Given the description of an element on the screen output the (x, y) to click on. 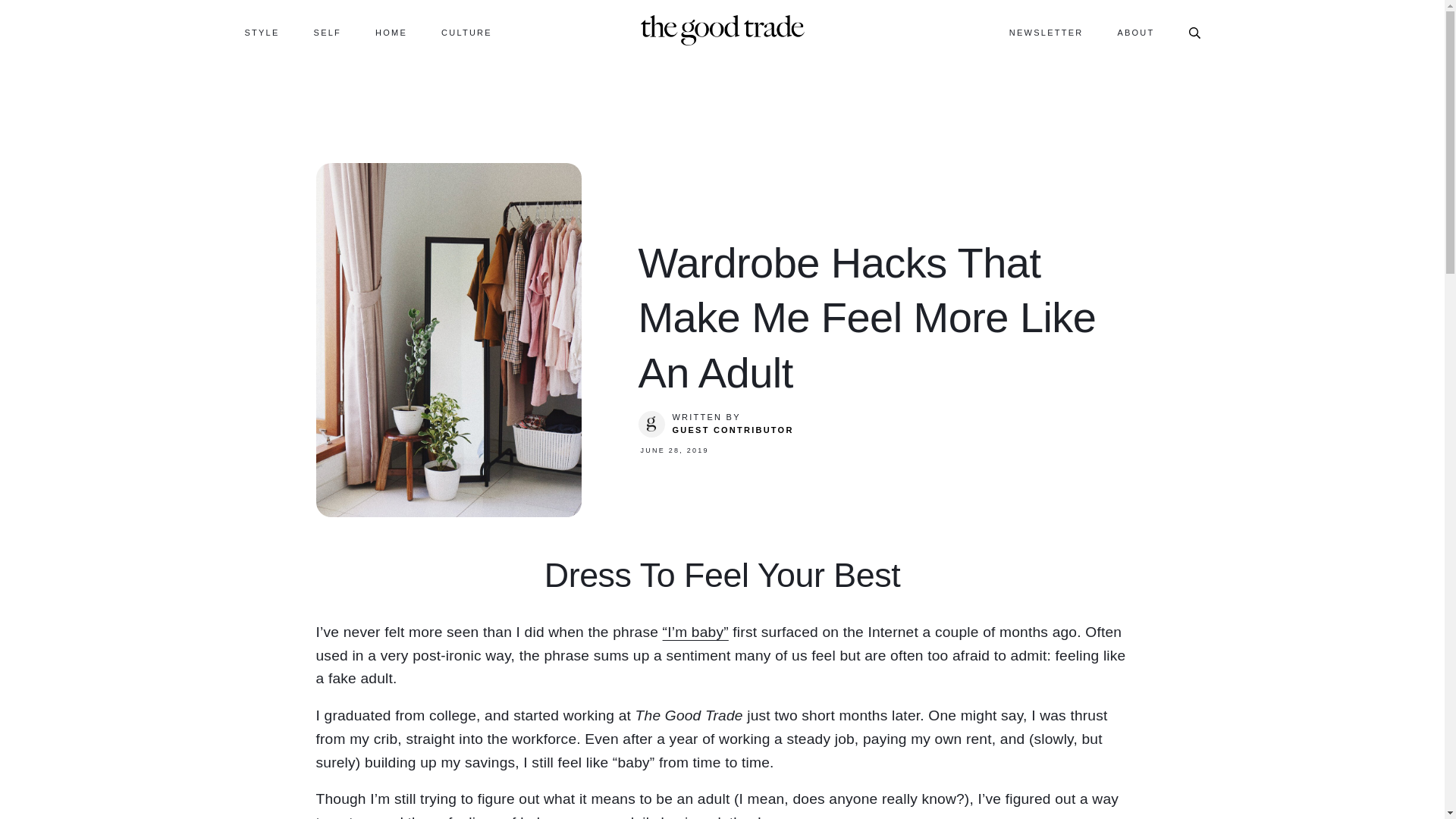
Homepage (721, 28)
SELF (327, 31)
STYLE (261, 31)
HOME (391, 31)
